Given the description of an element on the screen output the (x, y) to click on. 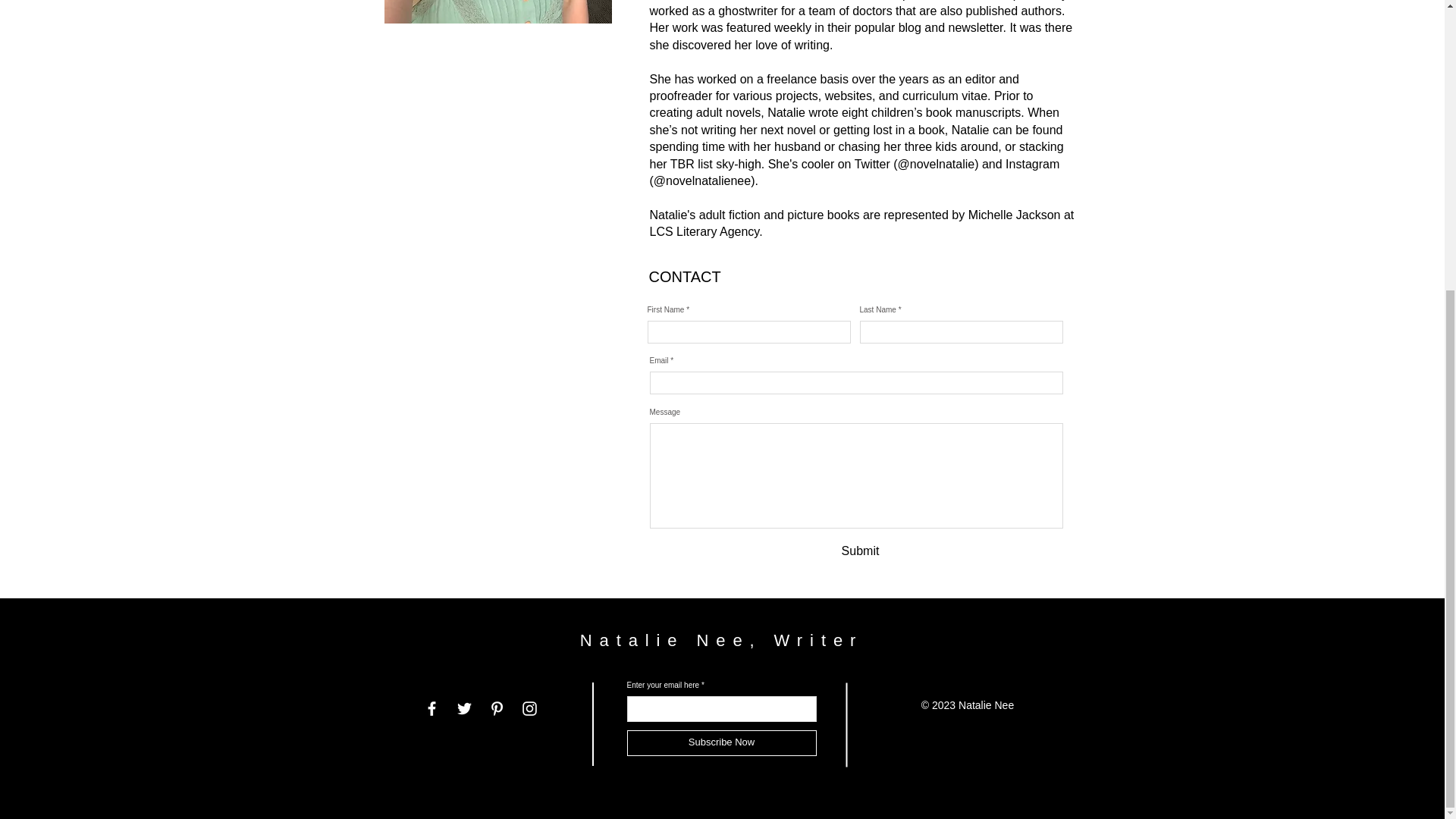
Natalie Nee, Writer (721, 640)
Submit (860, 551)
Subscribe Now (720, 742)
